Given the description of an element on the screen output the (x, y) to click on. 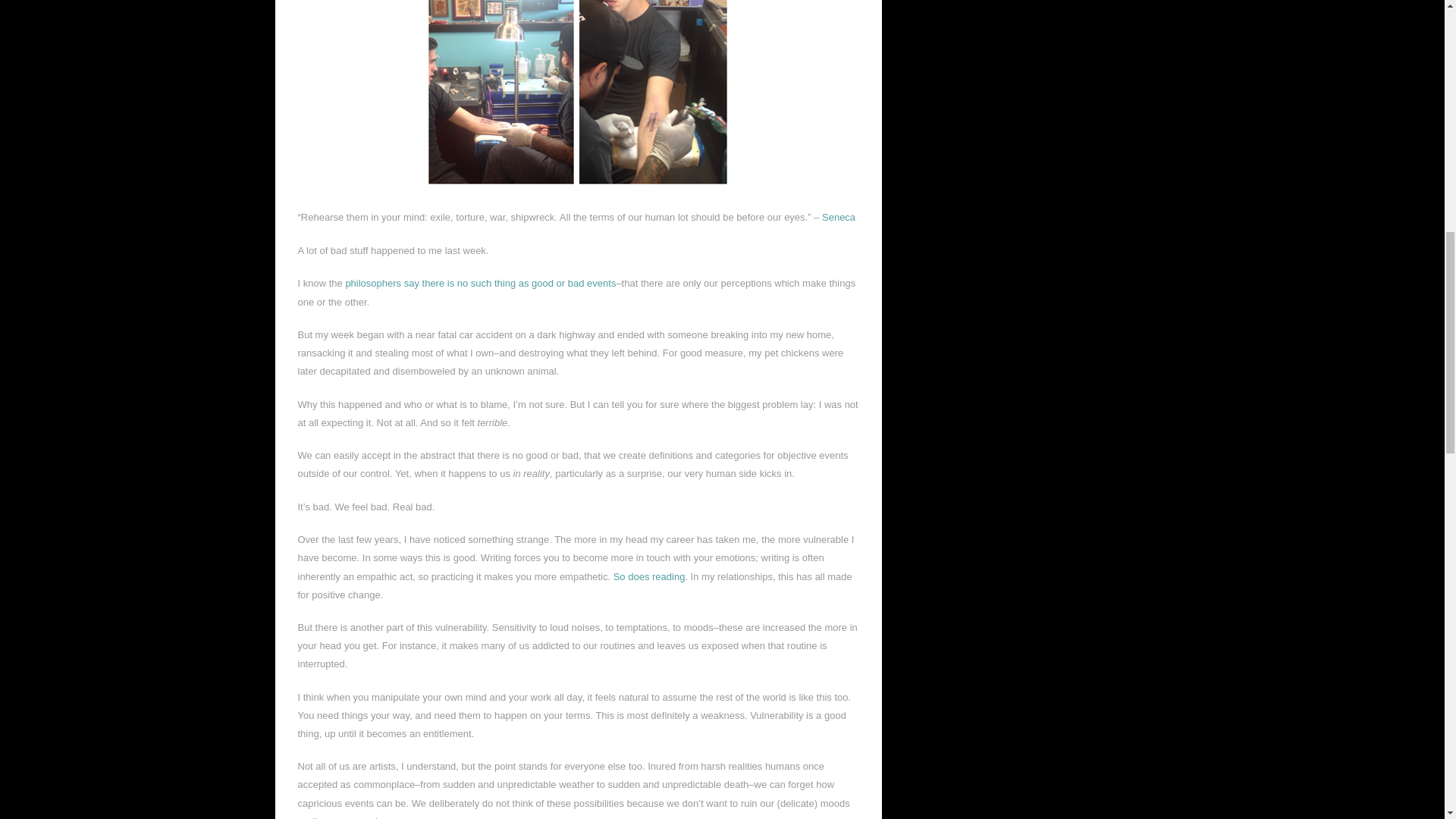
Seneca (839, 216)
So does reading (648, 576)
